Given the description of an element on the screen output the (x, y) to click on. 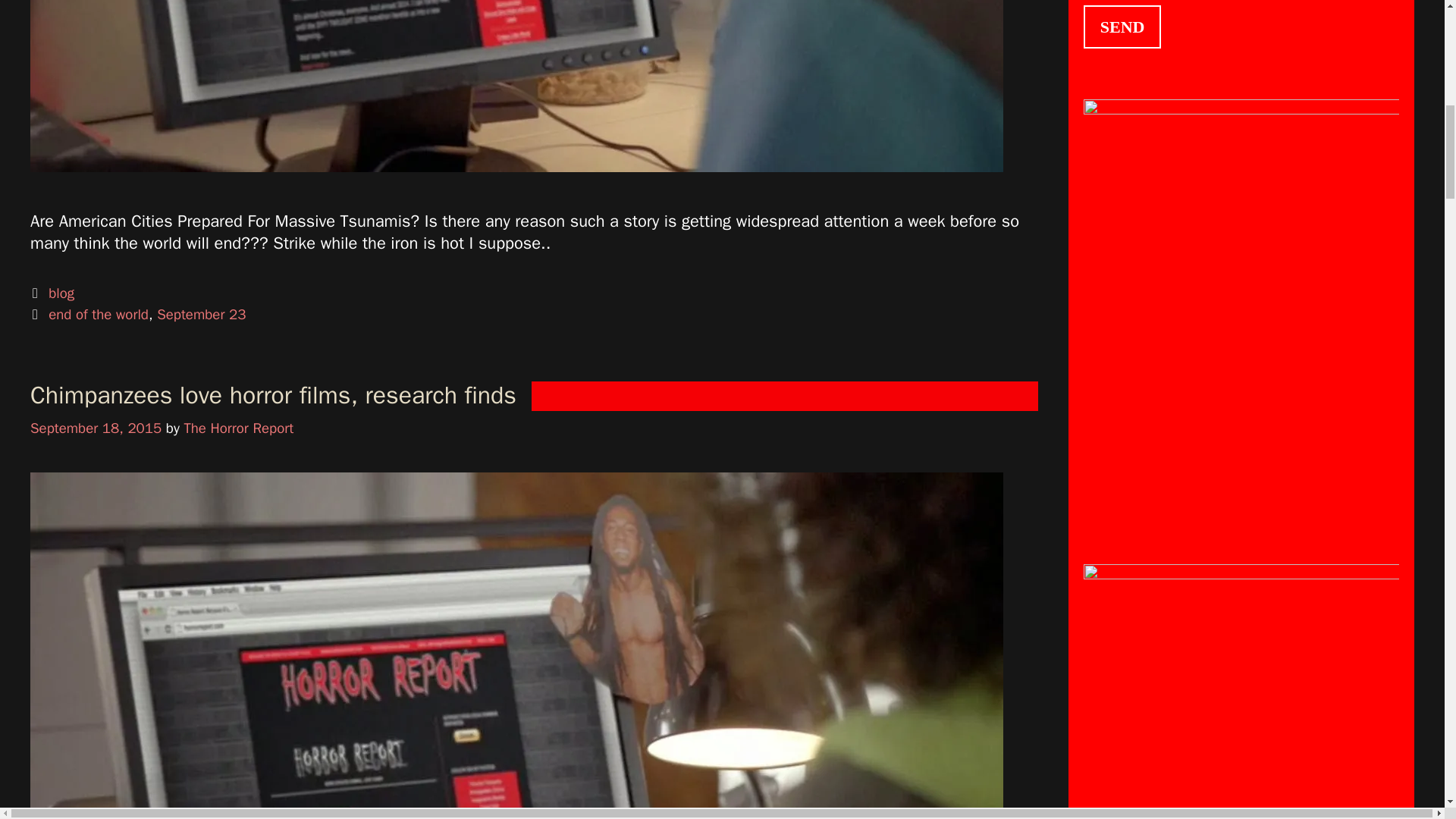
View all posts by The Horror Report (238, 428)
1:59 pm (95, 428)
Send (1122, 26)
